Given the description of an element on the screen output the (x, y) to click on. 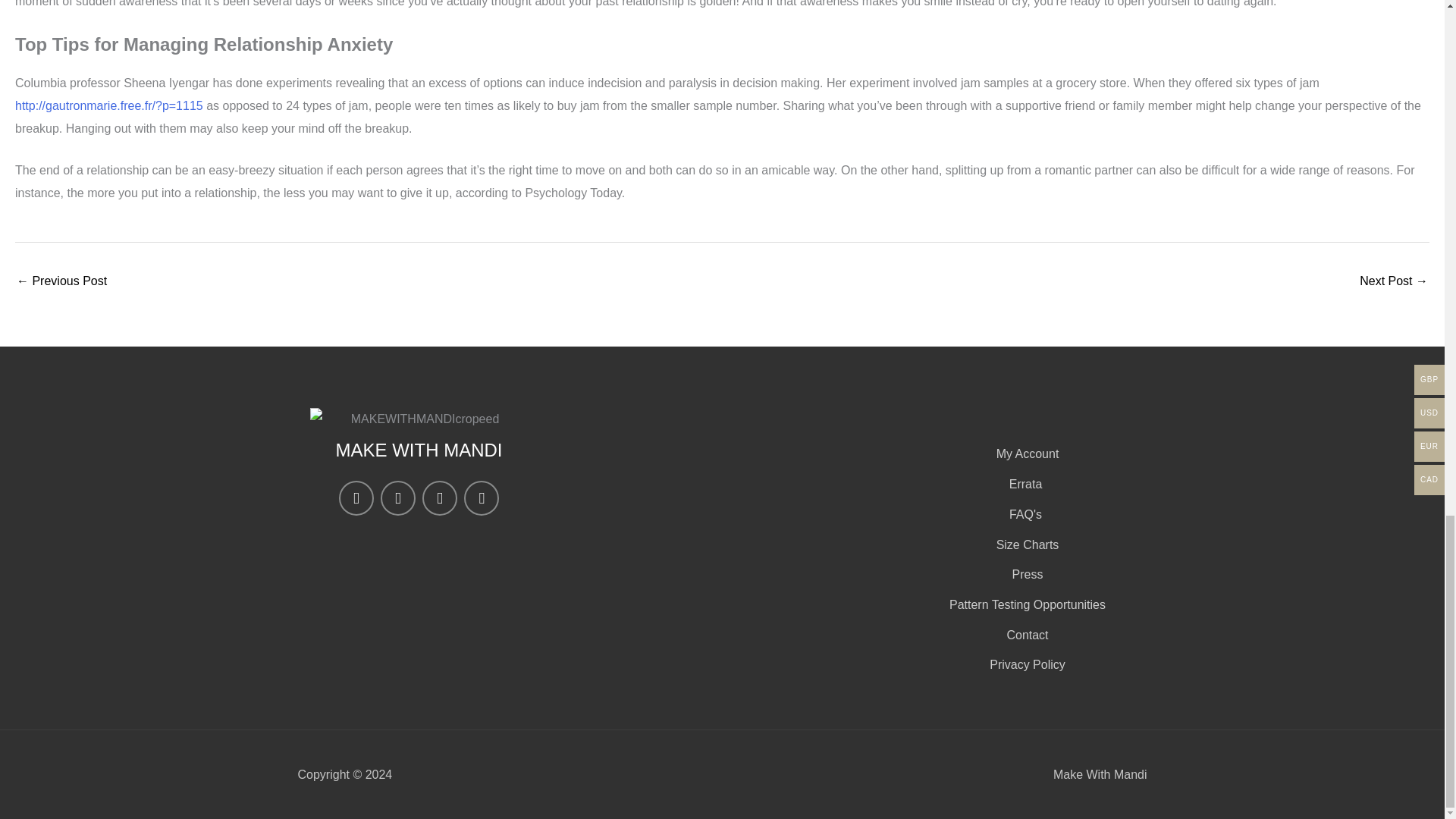
Facebook-f (397, 497)
Youtube (481, 497)
Pinterest (439, 497)
My Account (1024, 454)
Pattern Testing Opportunities (1024, 604)
Contact (1024, 635)
FAQ's (1024, 514)
Instagram (356, 497)
MAKEWITHMANDIcropeed (417, 418)
Errata (1024, 484)
Press (1024, 574)
Size Charts (1024, 544)
